Given the description of an element on the screen output the (x, y) to click on. 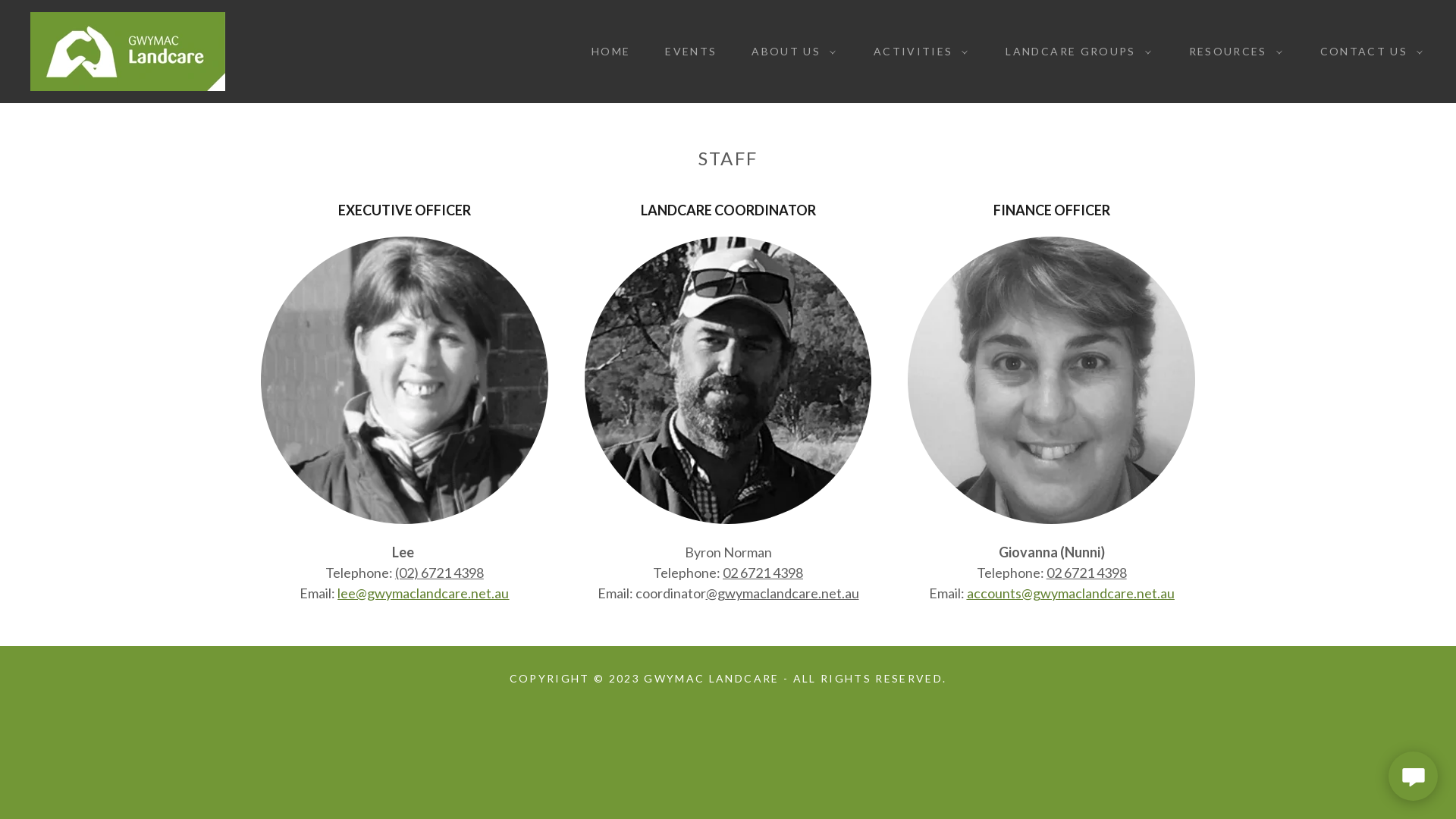
LANDCARE GROUPS Element type: text (1073, 51)
ACTIVITIES Element type: text (916, 51)
CONTACT US Element type: text (1367, 51)
lee@gwymaclandcare.net.au Element type: text (422, 592)
RESOURCES Element type: text (1231, 51)
ABOUT US Element type: text (789, 51)
EVENTS Element type: text (685, 51)
accounts@gwymaclandcare.net.au Element type: text (1070, 592)
HOME Element type: text (605, 51)
Gwymac Landcare Element type: hover (127, 49)
